Given the description of an element on the screen output the (x, y) to click on. 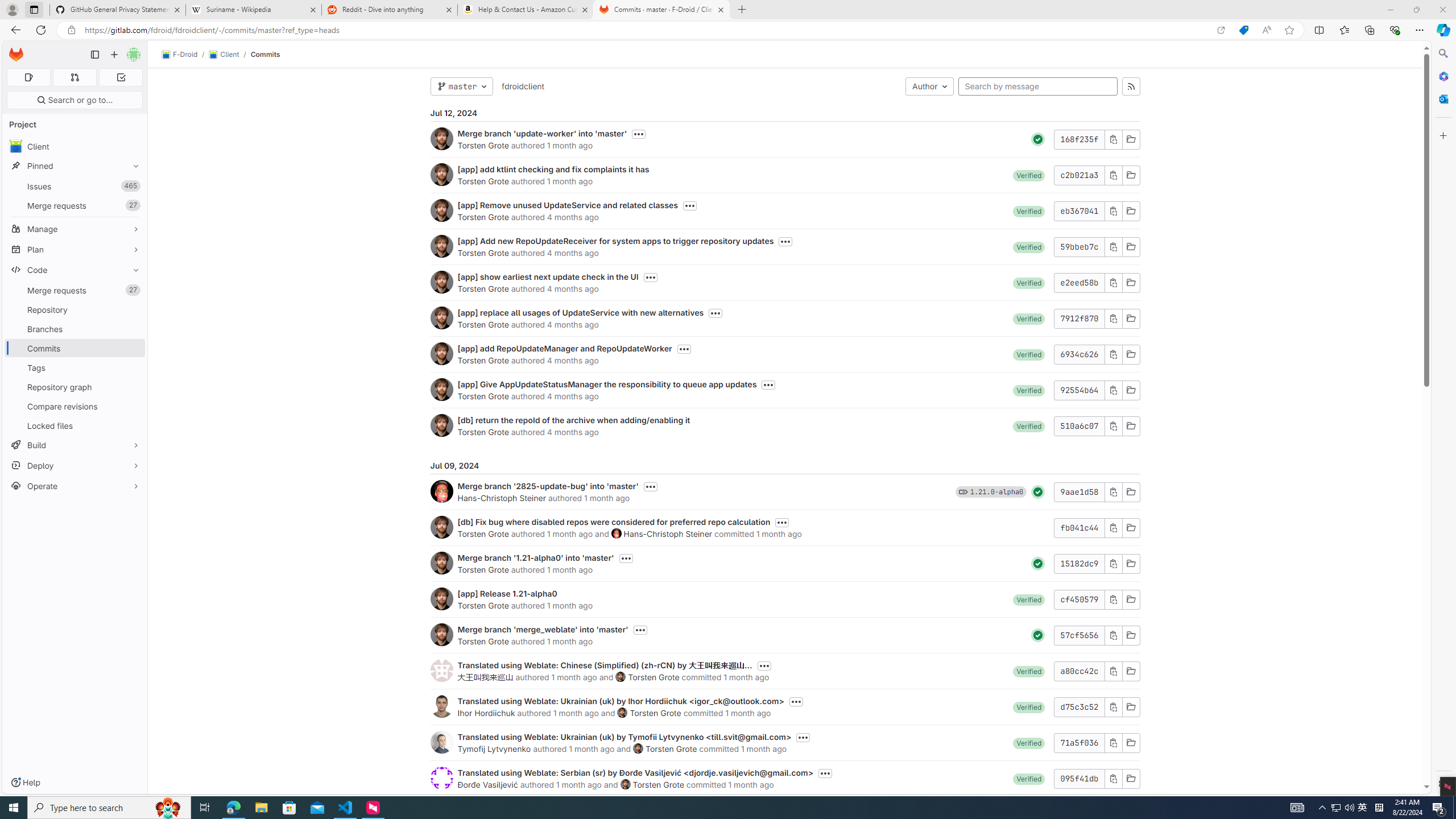
Homepage (16, 54)
Ihor Hordiichuk's avatar (440, 706)
Class: s24 gl-icon (1037, 635)
Manage (74, 228)
Verified (1029, 778)
Pin Repository (132, 309)
Jul 09, 2024 (784, 465)
Settings and more (Alt+F) (1419, 29)
[app] Release 1.21-alpha0 (507, 593)
Commits (265, 53)
Merge branch '2825-update-bug' into 'master' (548, 485)
Class: s16 gl-icon gl-button-icon  (1113, 777)
